Given the description of an element on the screen output the (x, y) to click on. 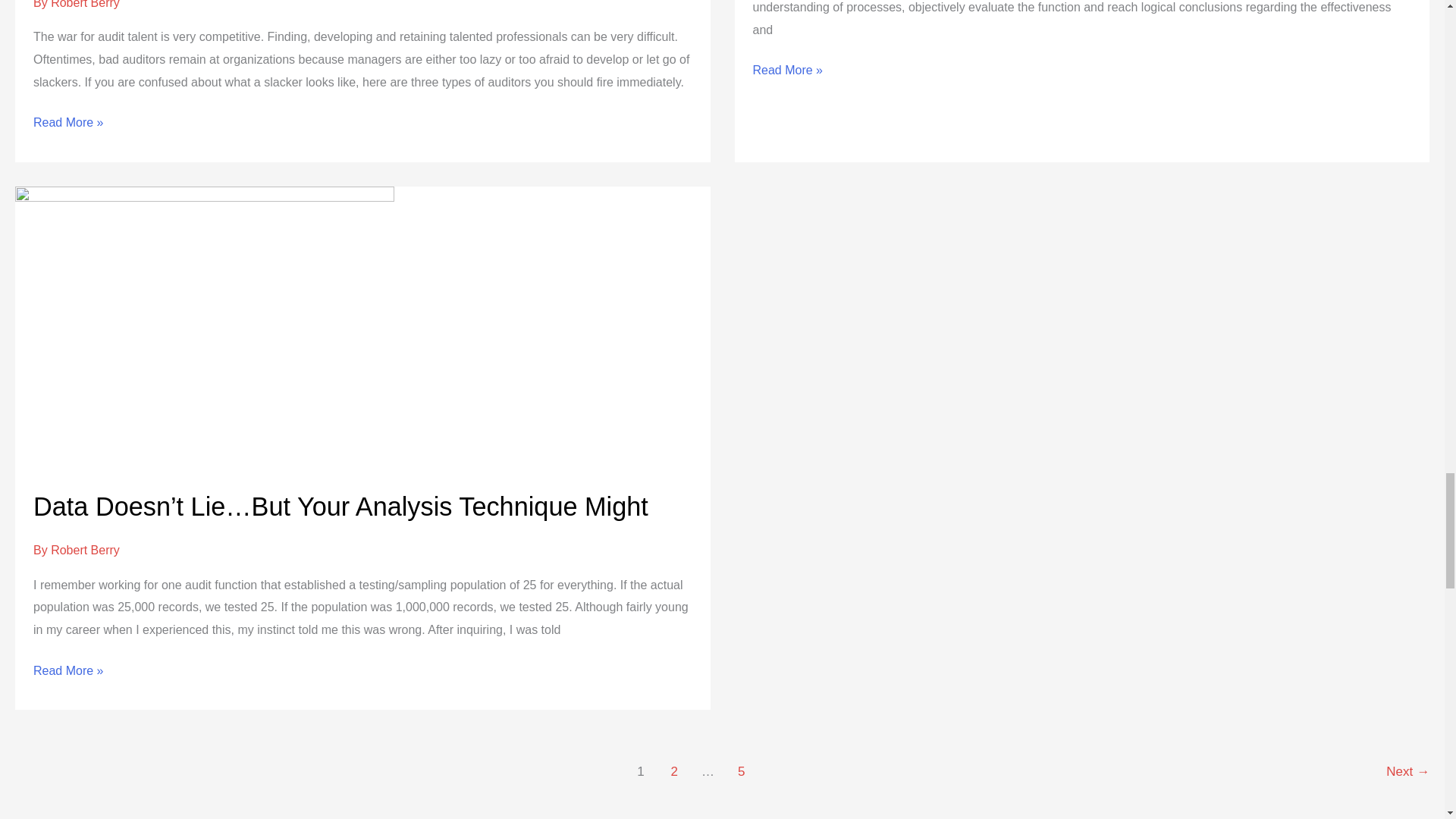
View all posts by Robert Berry (84, 4)
View all posts by Robert Berry (84, 549)
